Given the description of an element on the screen output the (x, y) to click on. 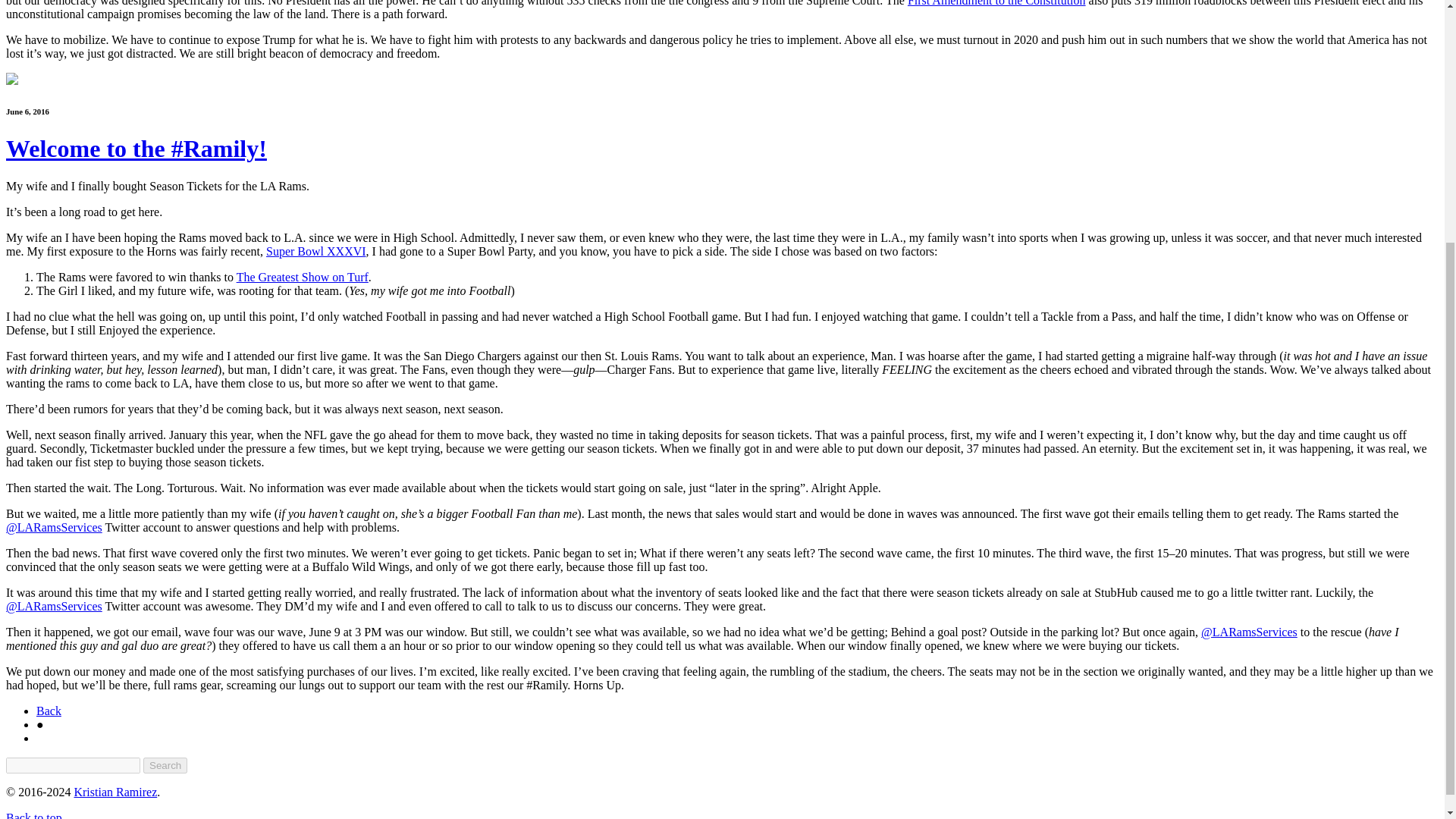
First Amendment to the Constitution (996, 3)
Search (164, 765)
Super Bowl XXXVI (316, 250)
Back (48, 710)
The Greatest Show on Turf (301, 277)
Search (164, 765)
Kristian Ramirez (115, 791)
